Given the description of an element on the screen output the (x, y) to click on. 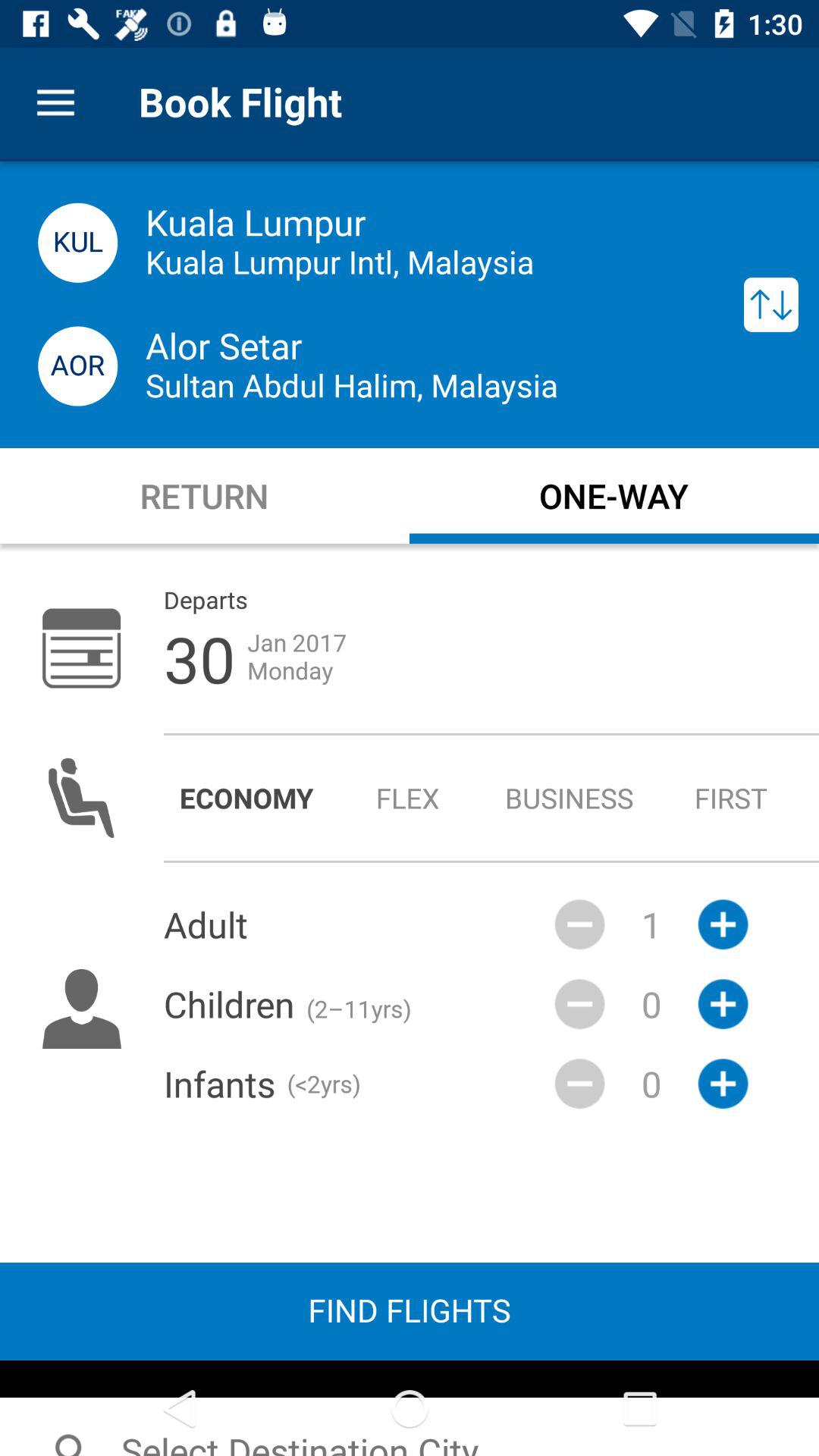
choose the item to the right of the business radio button (731, 797)
